Given the description of an element on the screen output the (x, y) to click on. 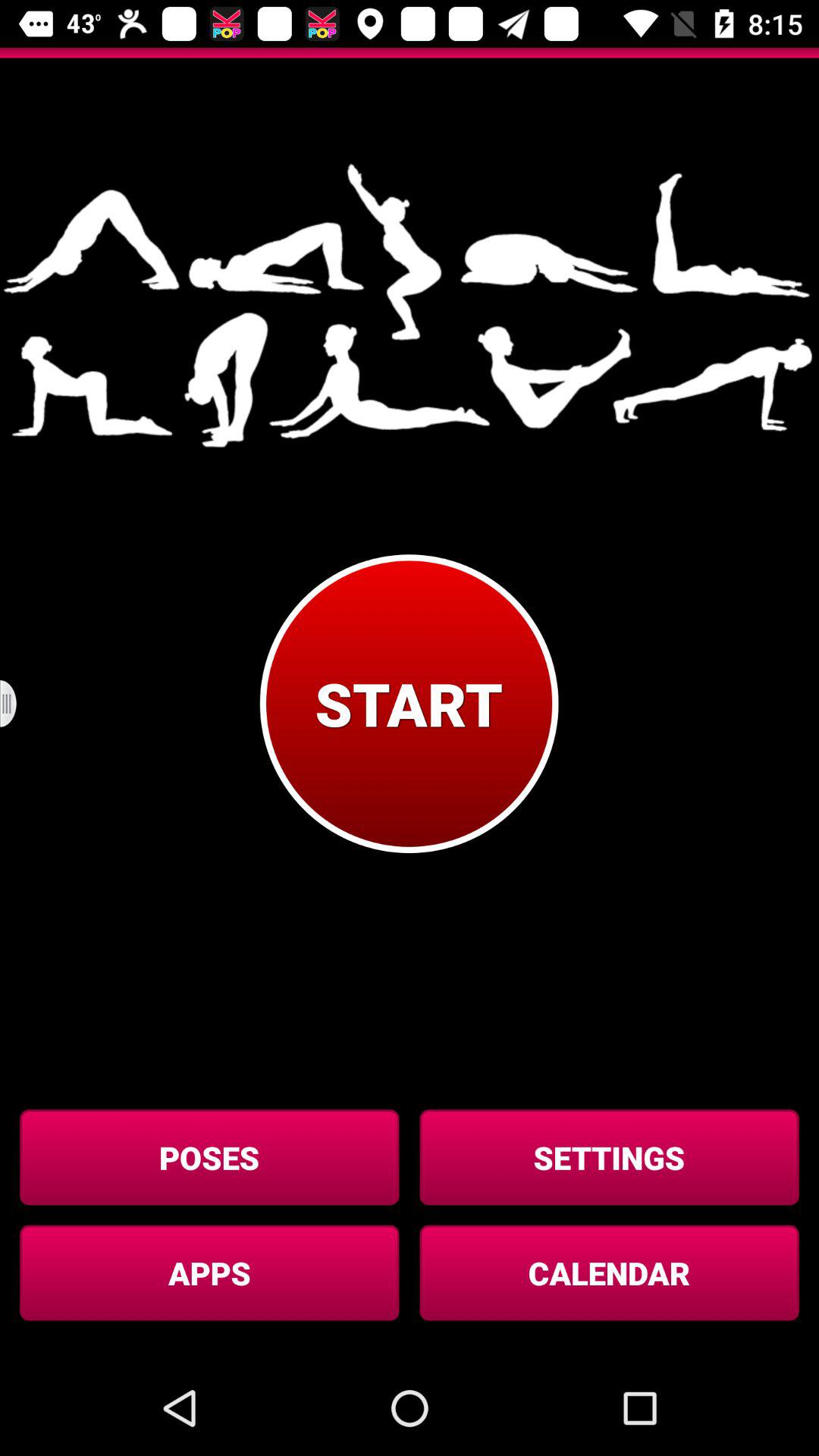
choose button next to apps button (609, 1272)
